Given the description of an element on the screen output the (x, y) to click on. 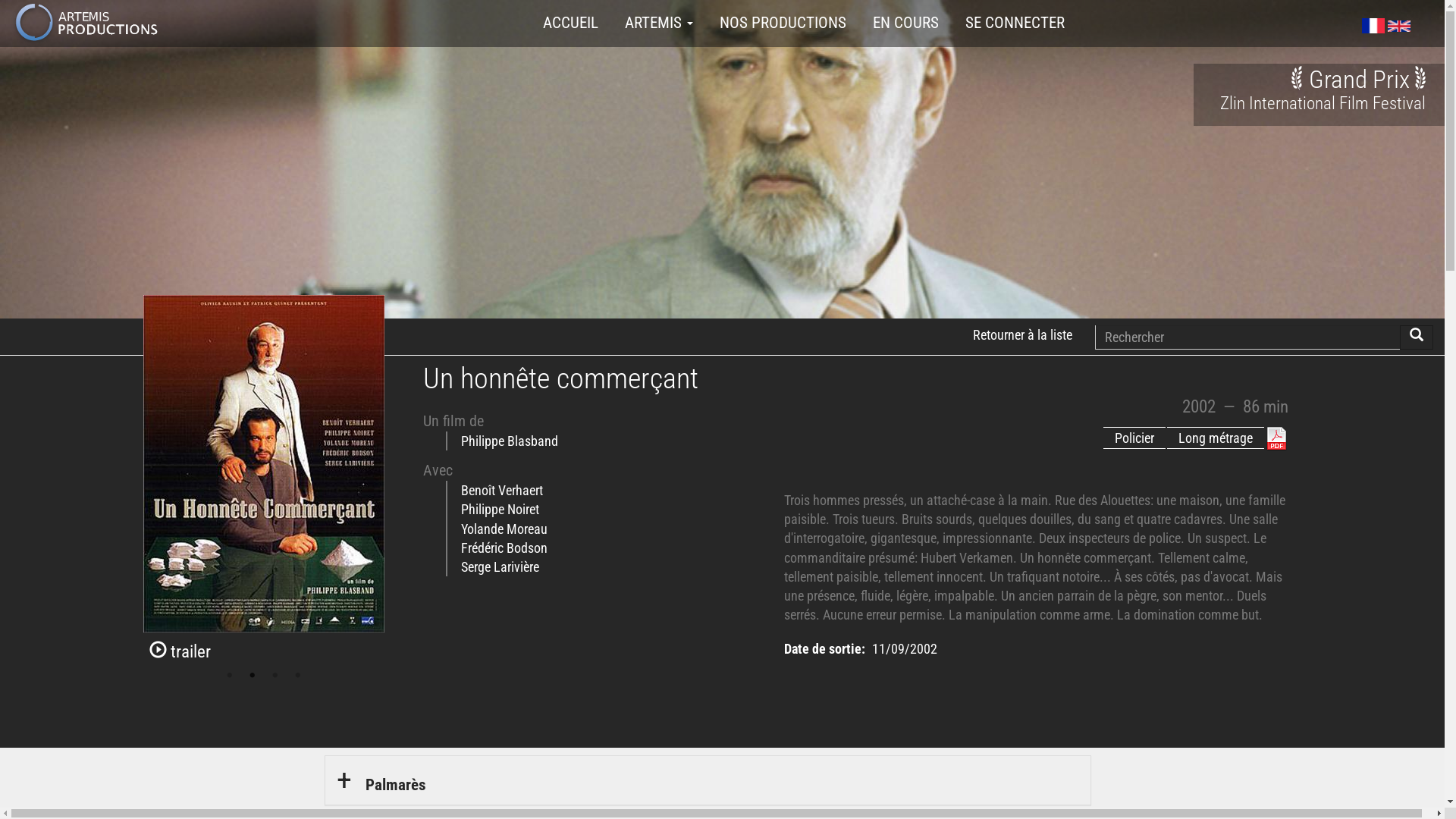
Philippe Noiret Element type: text (500, 509)
Philippe Blasband Element type: text (509, 440)
Yolande Moreau Element type: text (504, 528)
ARTEMIS Element type: text (658, 23)
3 Element type: text (274, 675)
Rechercher Element type: text (1416, 337)
Grand Prix
Zlin International Film Festival Element type: text (1322, 88)
NOS PRODUCTIONS Element type: text (782, 23)
SE CONNECTER Element type: text (1014, 23)
4 Element type: text (297, 675)
Aller au contenu principal Element type: text (0, 45)
English Element type: hover (1398, 25)
EN COURS Element type: text (905, 23)
French Element type: hover (1372, 25)
2 Element type: text (252, 675)
Policier Element type: text (1133, 450)
1 Element type: text (229, 675)
ACCUEIL Element type: text (570, 23)
